Given the description of an element on the screen output the (x, y) to click on. 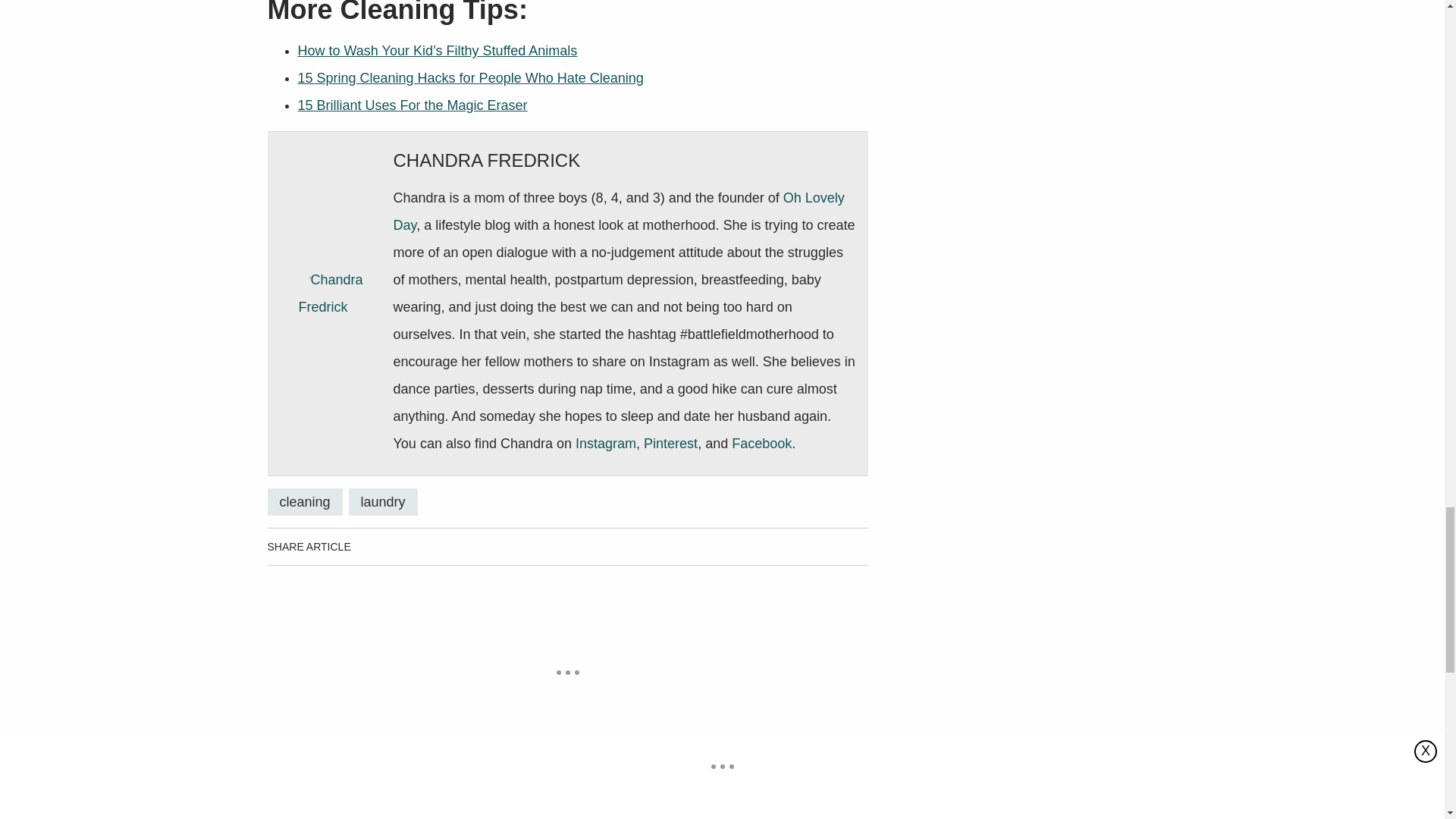
CHANDRA FREDRICK (486, 159)
Instagram (605, 443)
15 Brilliant Uses For the Magic Eraser (412, 105)
15 Spring Cleaning Hacks for People Who Hate Cleaning (470, 77)
Oh Lovely Day (618, 211)
